Given the description of an element on the screen output the (x, y) to click on. 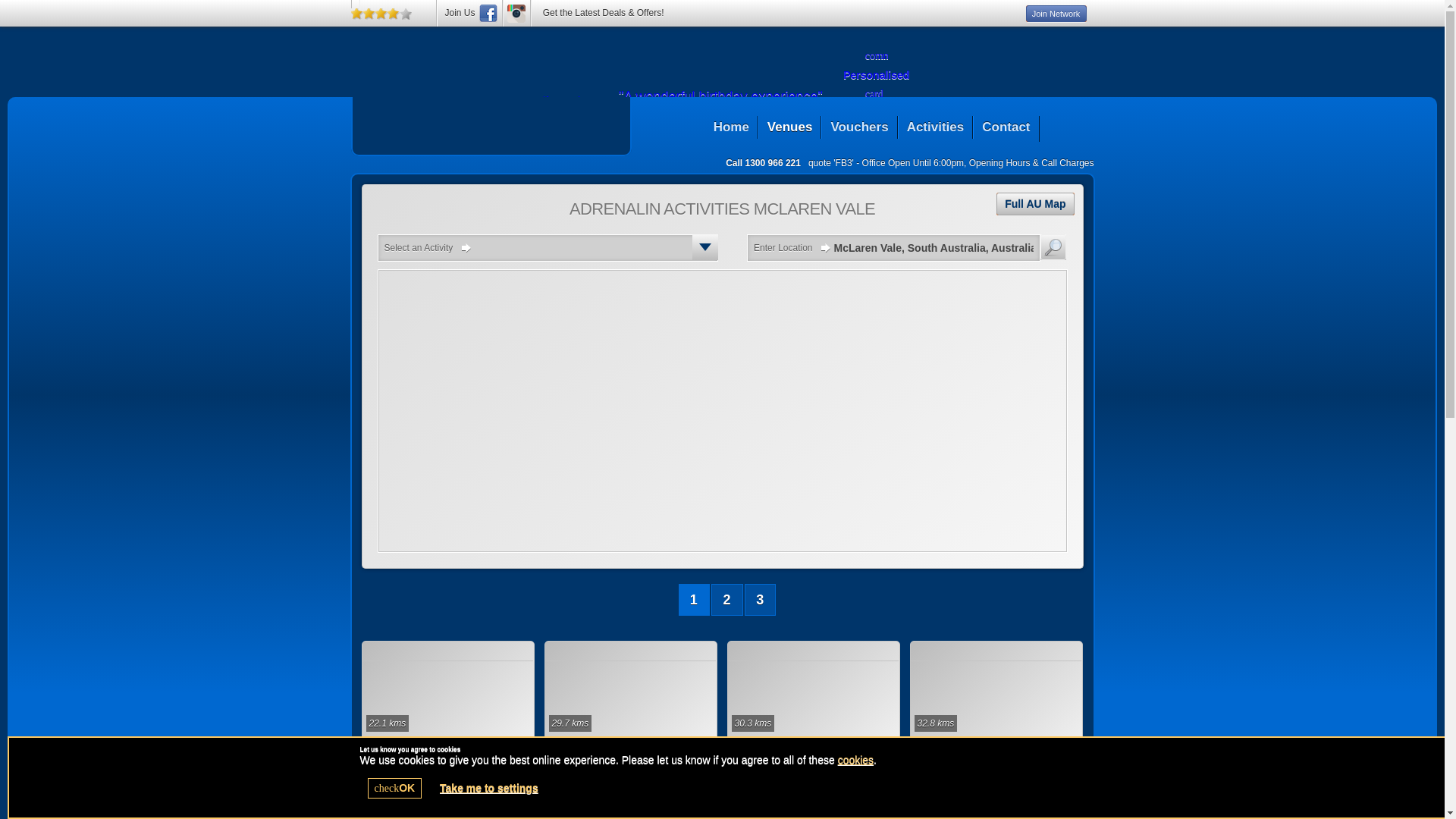
Adventures near McLaren Vale, South Australia (490, 121)
Our Booking Office is Open Until 6:00pm (912, 163)
McLaren Vale, South Australia, Australia (933, 247)
Home (730, 127)
expand (704, 247)
Venues (789, 127)
Full AU Map (1034, 203)
Contact (1005, 127)
